Given the description of an element on the screen output the (x, y) to click on. 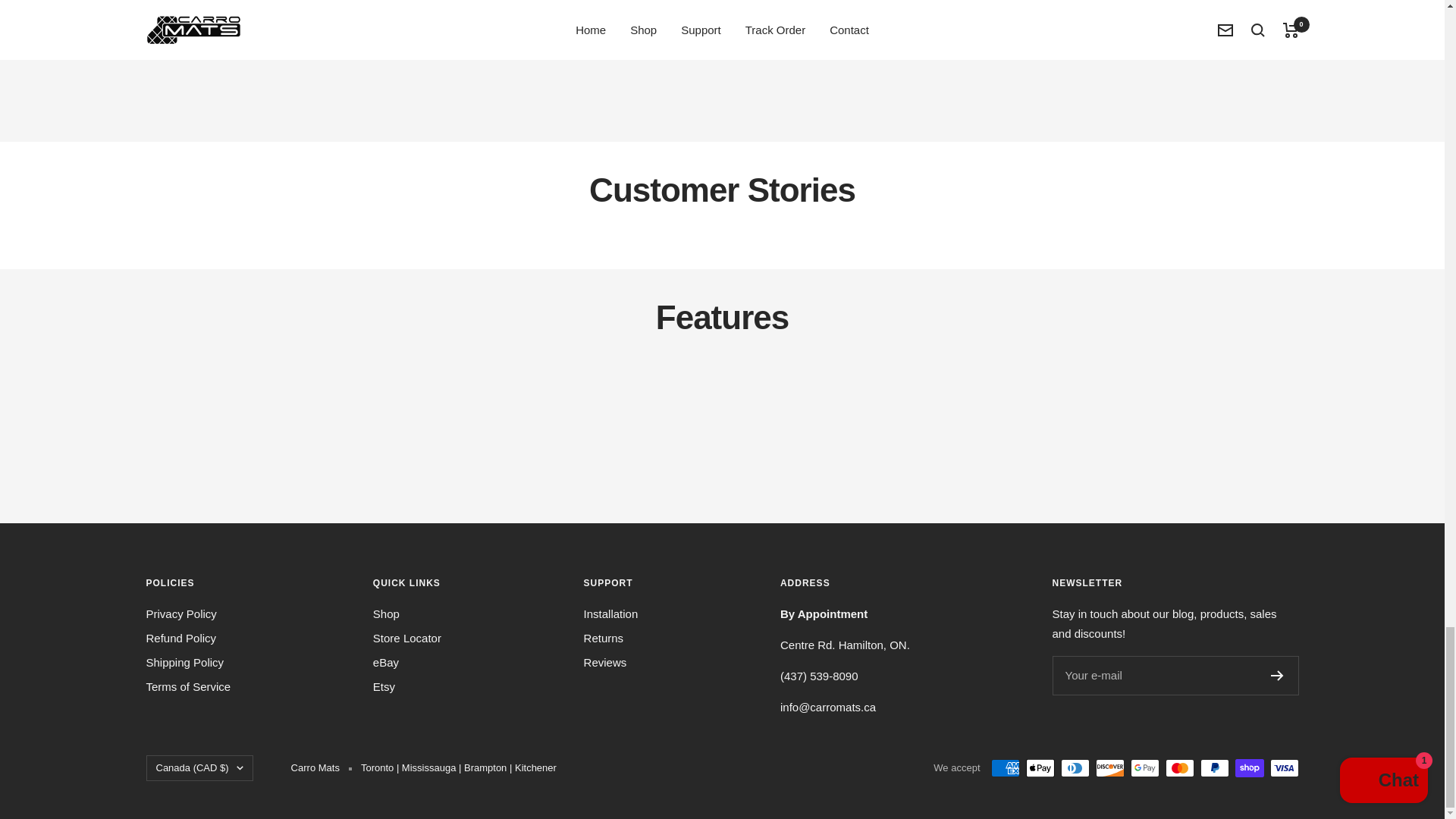
Register (1277, 675)
